Given the description of an element on the screen output the (x, y) to click on. 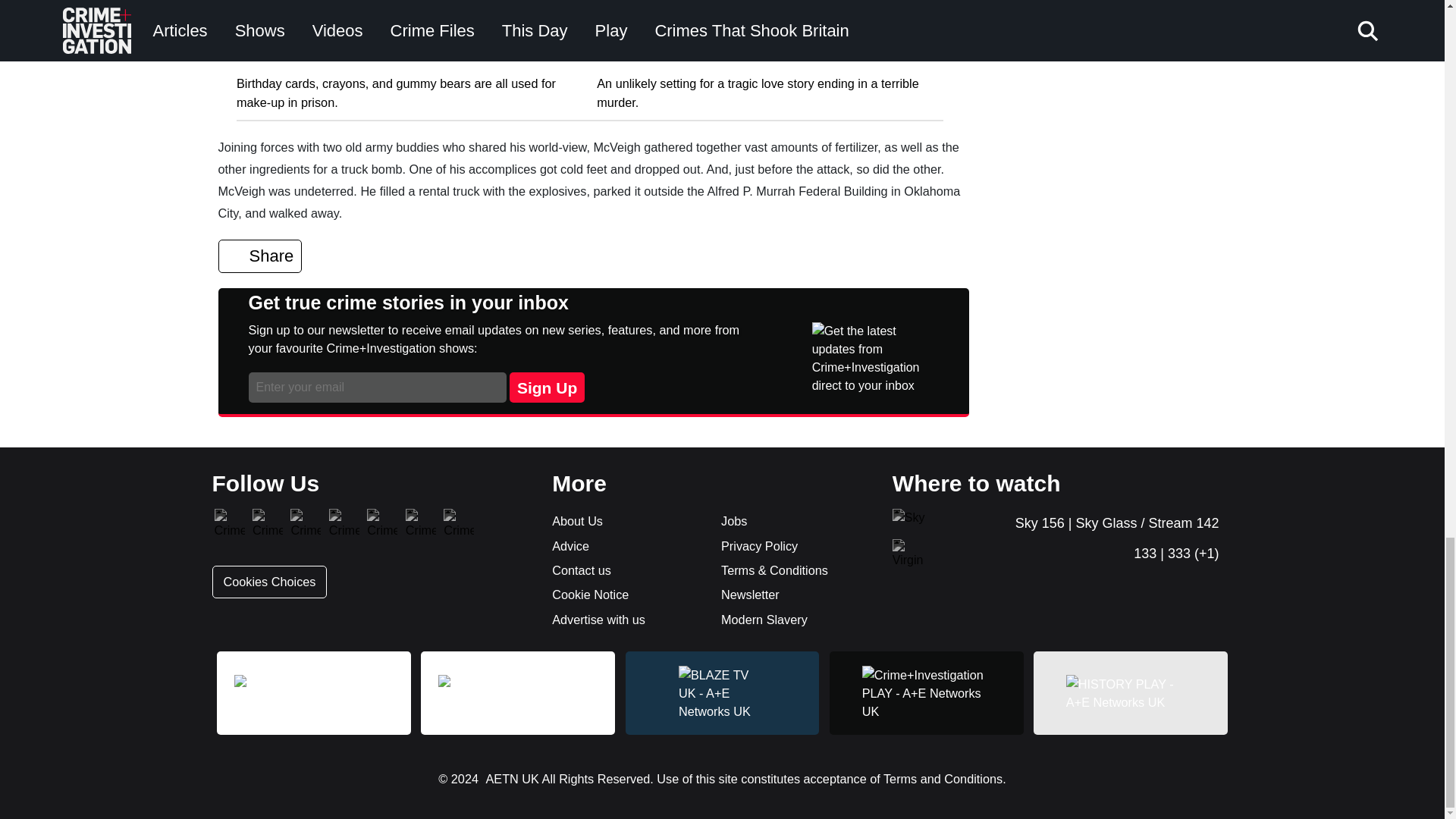
Cookies Choices (269, 581)
Sign Up (547, 387)
Share (260, 255)
About Us (626, 520)
JAIL MAKE-UP TIPS (294, 56)
THE BEAUTY SALON MURDER (688, 56)
Sign Up (547, 387)
